Given the description of an element on the screen output the (x, y) to click on. 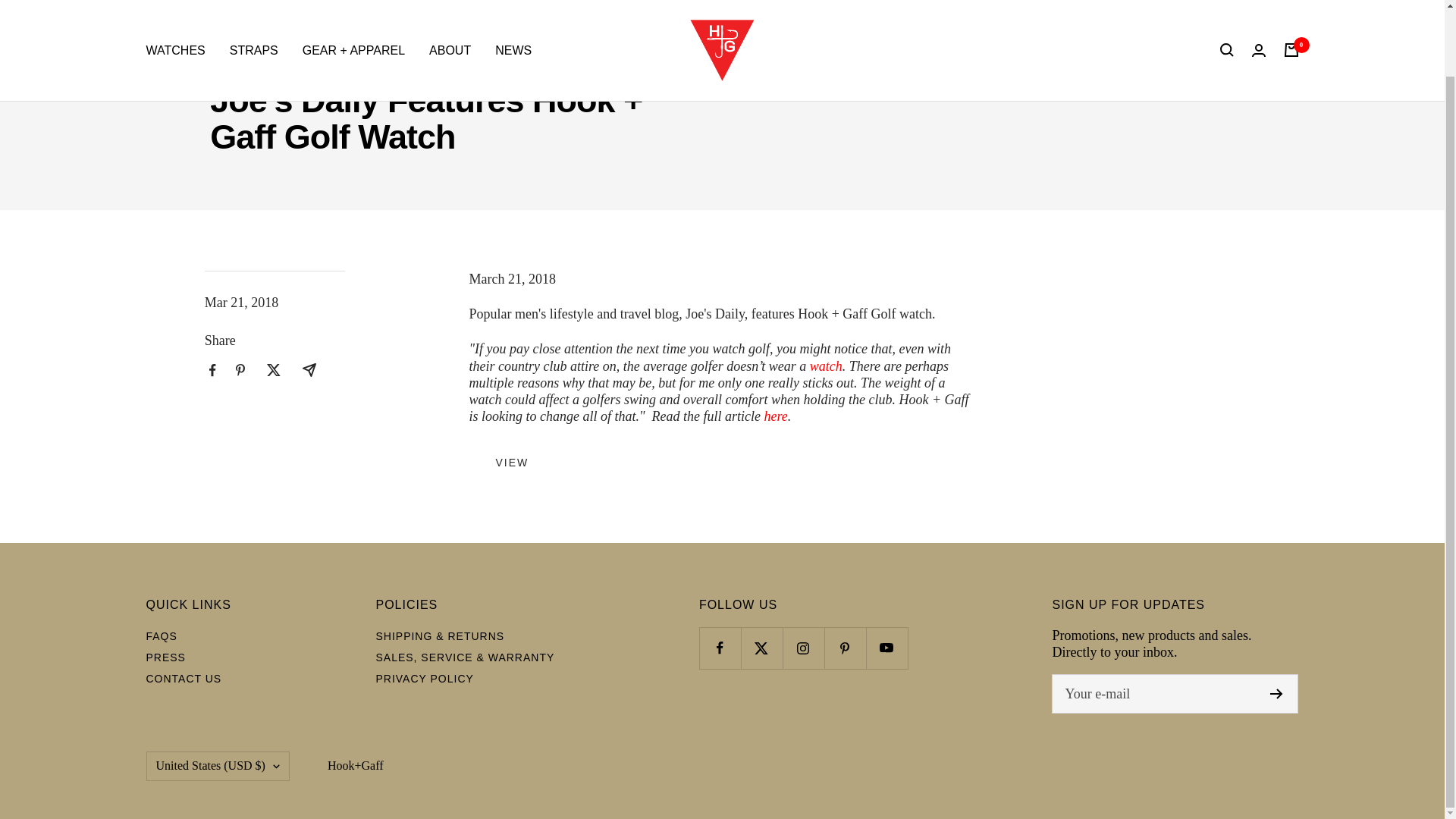
here (775, 416)
watch (826, 365)
VIEW (511, 462)
View (511, 462)
FAQS (160, 635)
PRIVACY POLICY (424, 678)
CONTACT US (183, 678)
Register (1275, 693)
PRESS (164, 657)
